Given the description of an element on the screen output the (x, y) to click on. 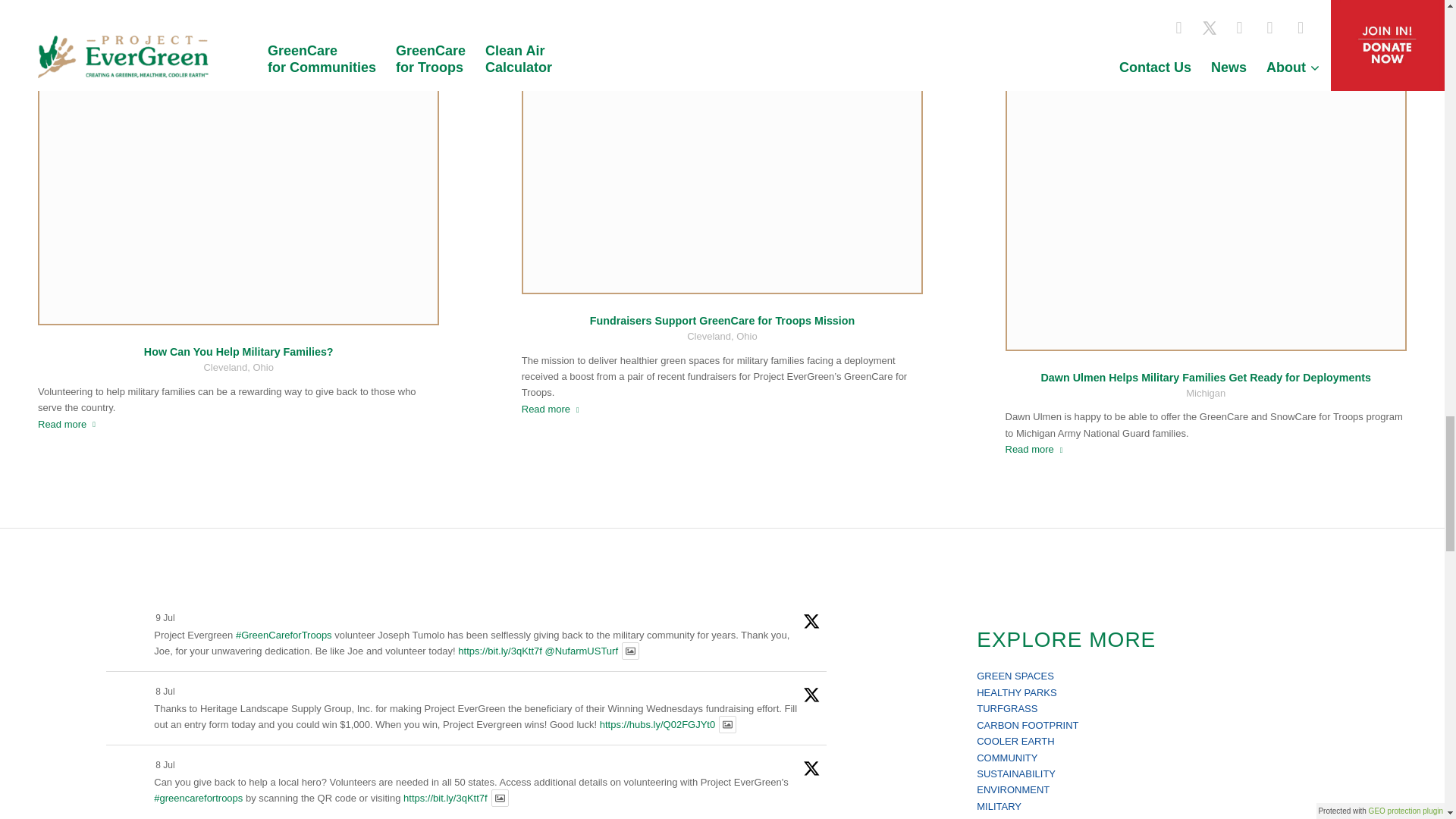
How Can You Help Military Families? (238, 175)
Fundraisers Support GreenCare for Troops Mission (722, 159)
How Can You Help Military Families? (238, 351)
